Given the description of an element on the screen output the (x, y) to click on. 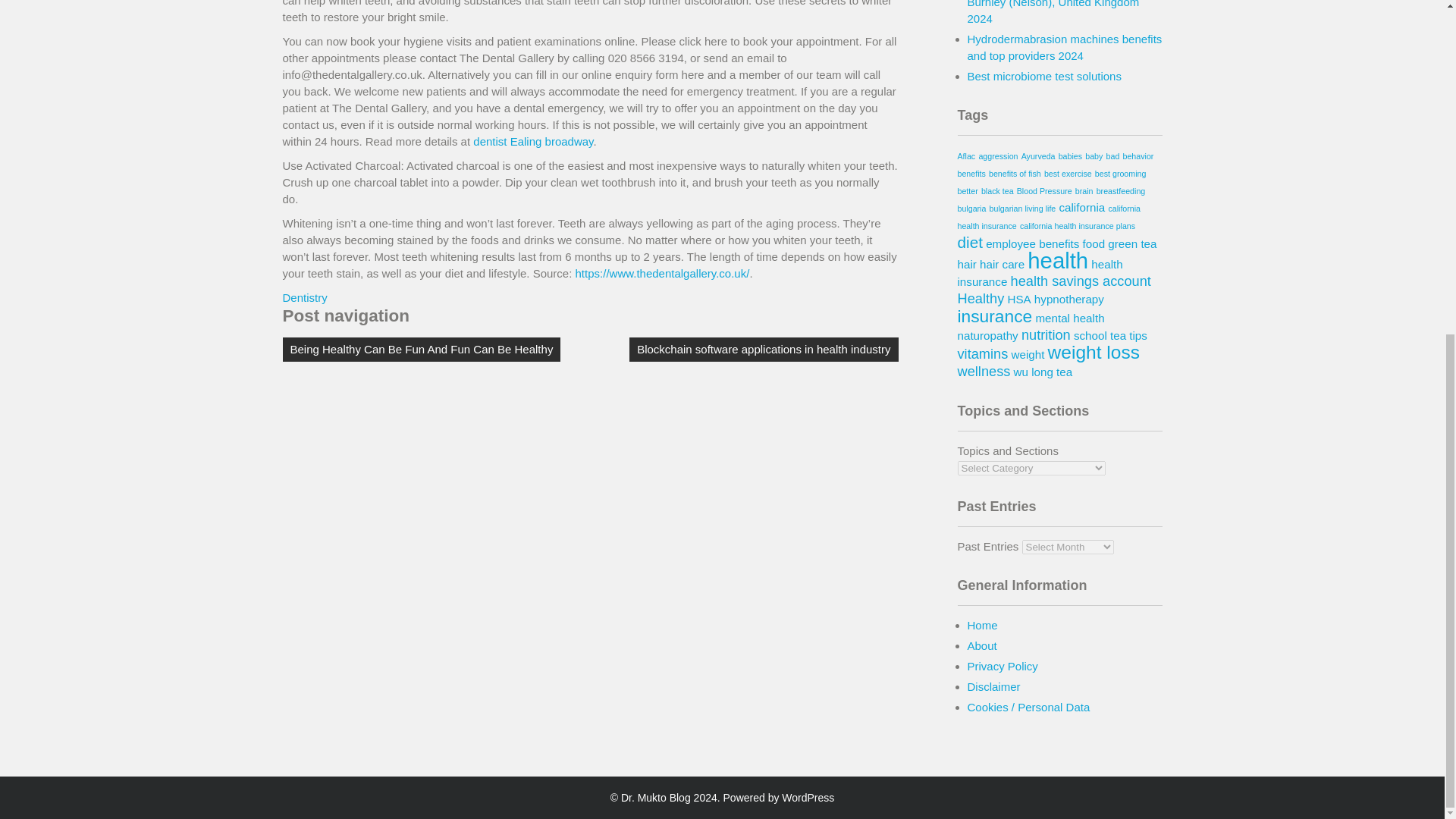
Aflac (965, 155)
behavior (1137, 155)
Blockchain software applications in health industry (763, 349)
Being Healthy Can Be Fun And Fun Can Be Healthy (421, 349)
bad (1112, 155)
black tea (997, 190)
benefits (970, 173)
Ayurveda (1038, 155)
bulgaria (970, 207)
best grooming (1120, 173)
Hydrodermabrasion machines benefits and top providers 2024 (1064, 47)
brain (1084, 190)
breastfeeding (1120, 190)
Blood Pressure (1043, 190)
babies (1069, 155)
